Given the description of an element on the screen output the (x, y) to click on. 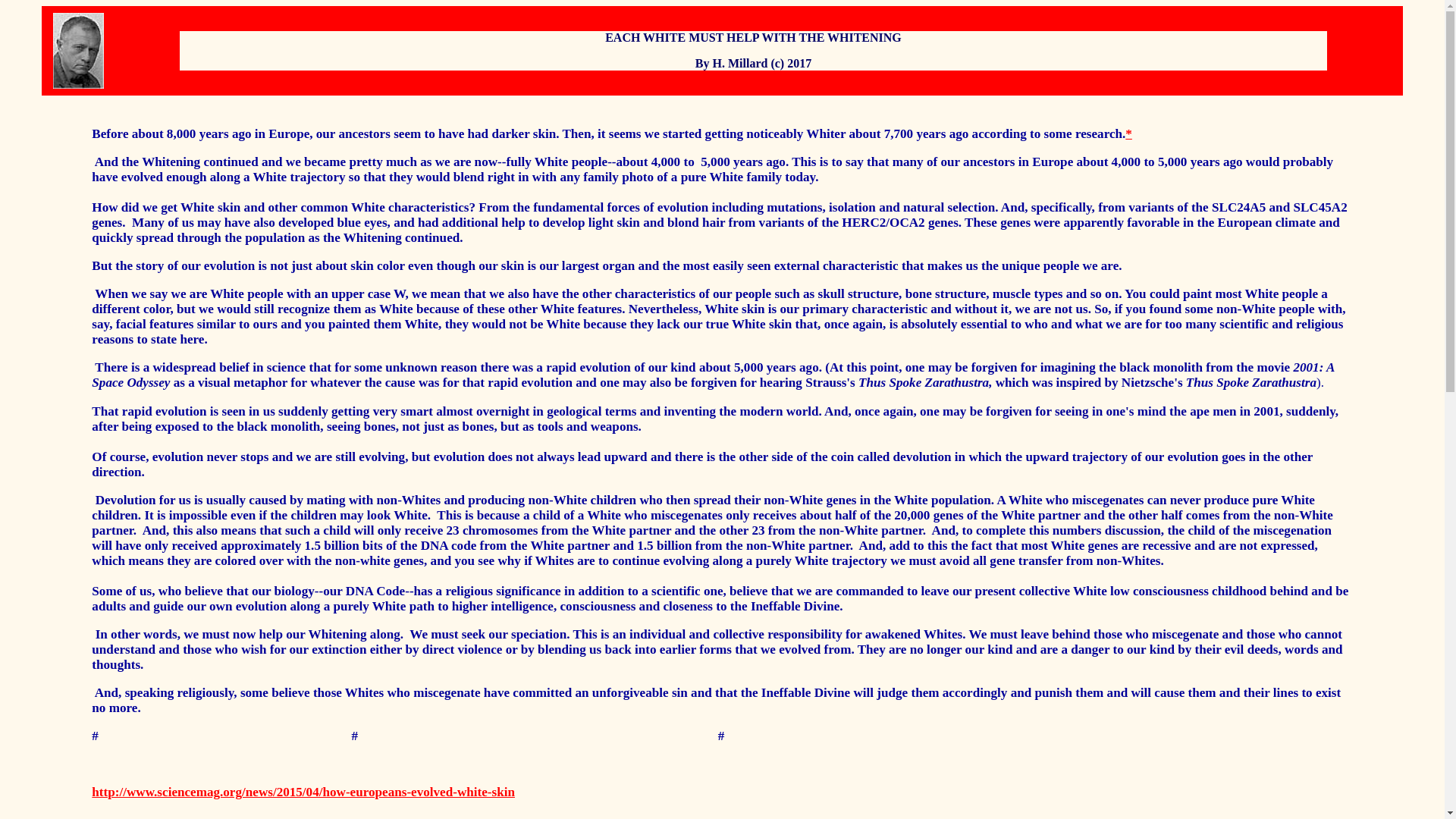
* Element type: text (1128, 133)
